Given the description of an element on the screen output the (x, y) to click on. 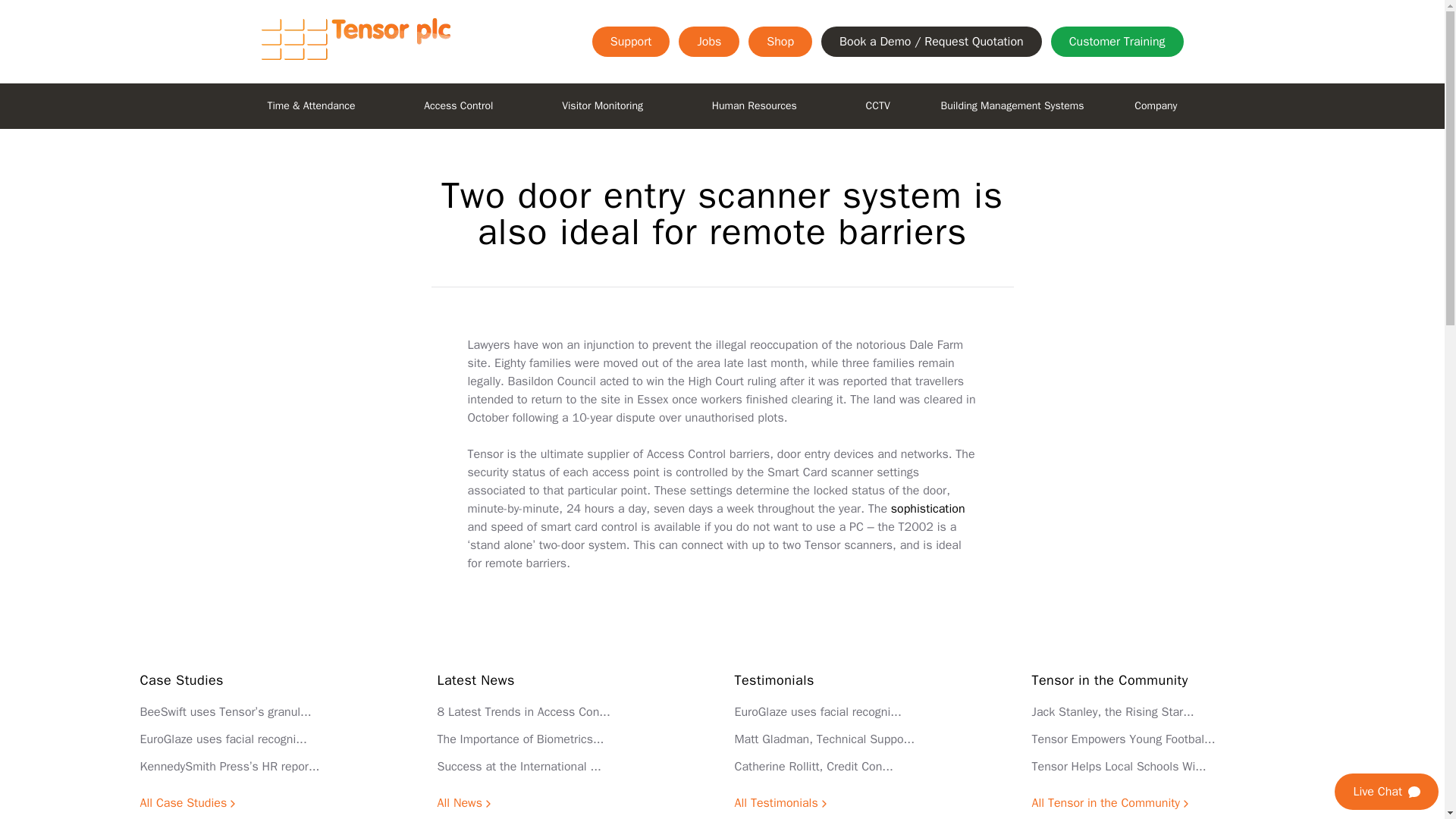
Jobs (708, 41)
Tensor Empowers Young Football Players (1122, 739)
Catherine Rollitt, Credit Controller, Harboro Rubber Co Ltd (812, 766)
Support (630, 41)
Customer Training (1117, 41)
Matt Gladman, Technical Support Lead, Motor Insurers' Bureau (823, 739)
Access Control (458, 105)
 The Importance of Biometrics in Healthcare Security (520, 739)
8 Latest Trends in Access Control Technologies (523, 711)
Shop (780, 41)
